Given the description of an element on the screen output the (x, y) to click on. 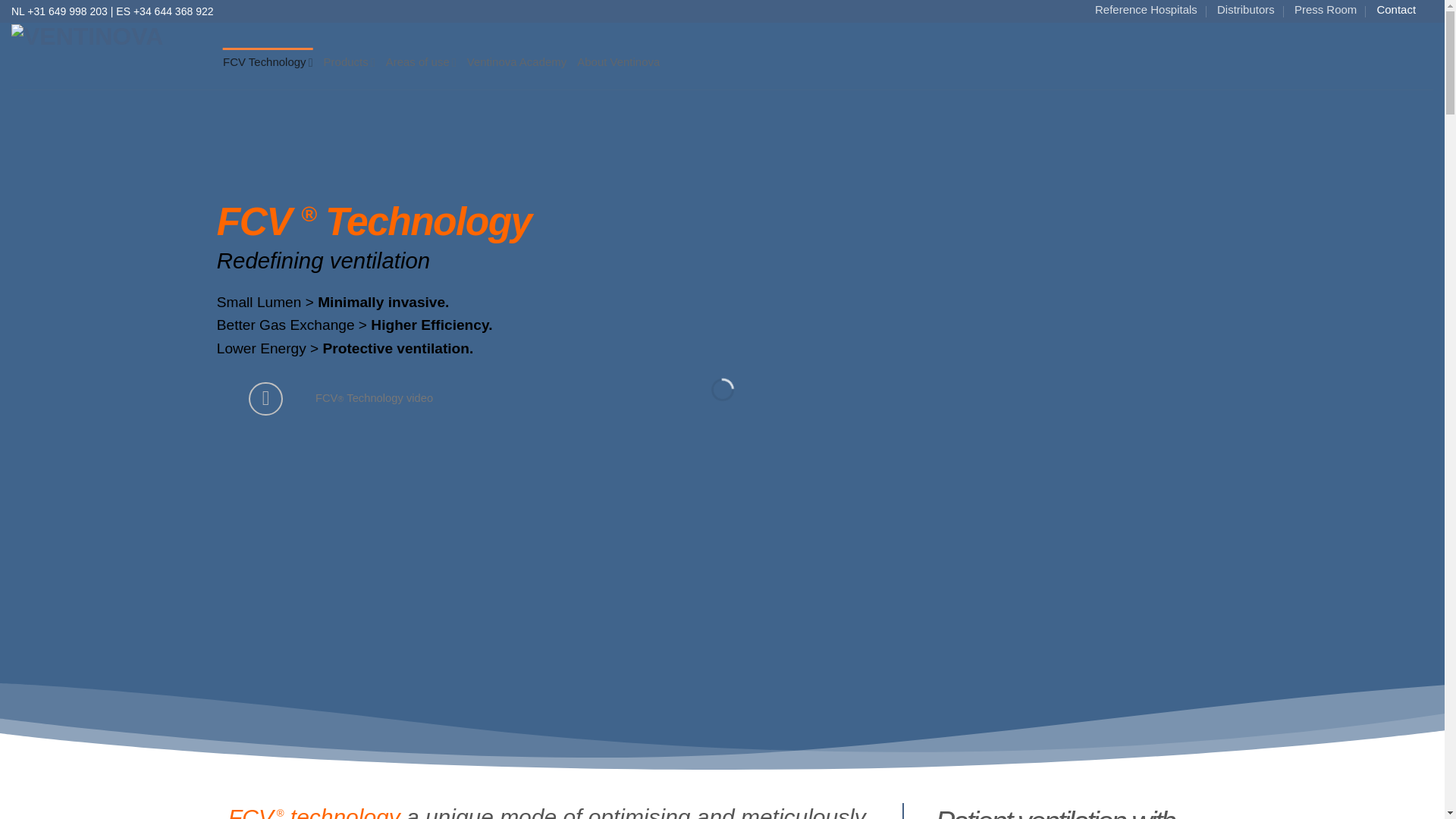
Products (349, 61)
ventinova - ventinova (105, 55)
Contact (1395, 9)
FCV Technology (267, 61)
About Ventinova (617, 62)
Areas of use (421, 61)
Reference Hospitals (1145, 9)
Press Room (1325, 9)
Distributors (1246, 9)
Ventinova Academy (516, 62)
